Given the description of an element on the screen output the (x, y) to click on. 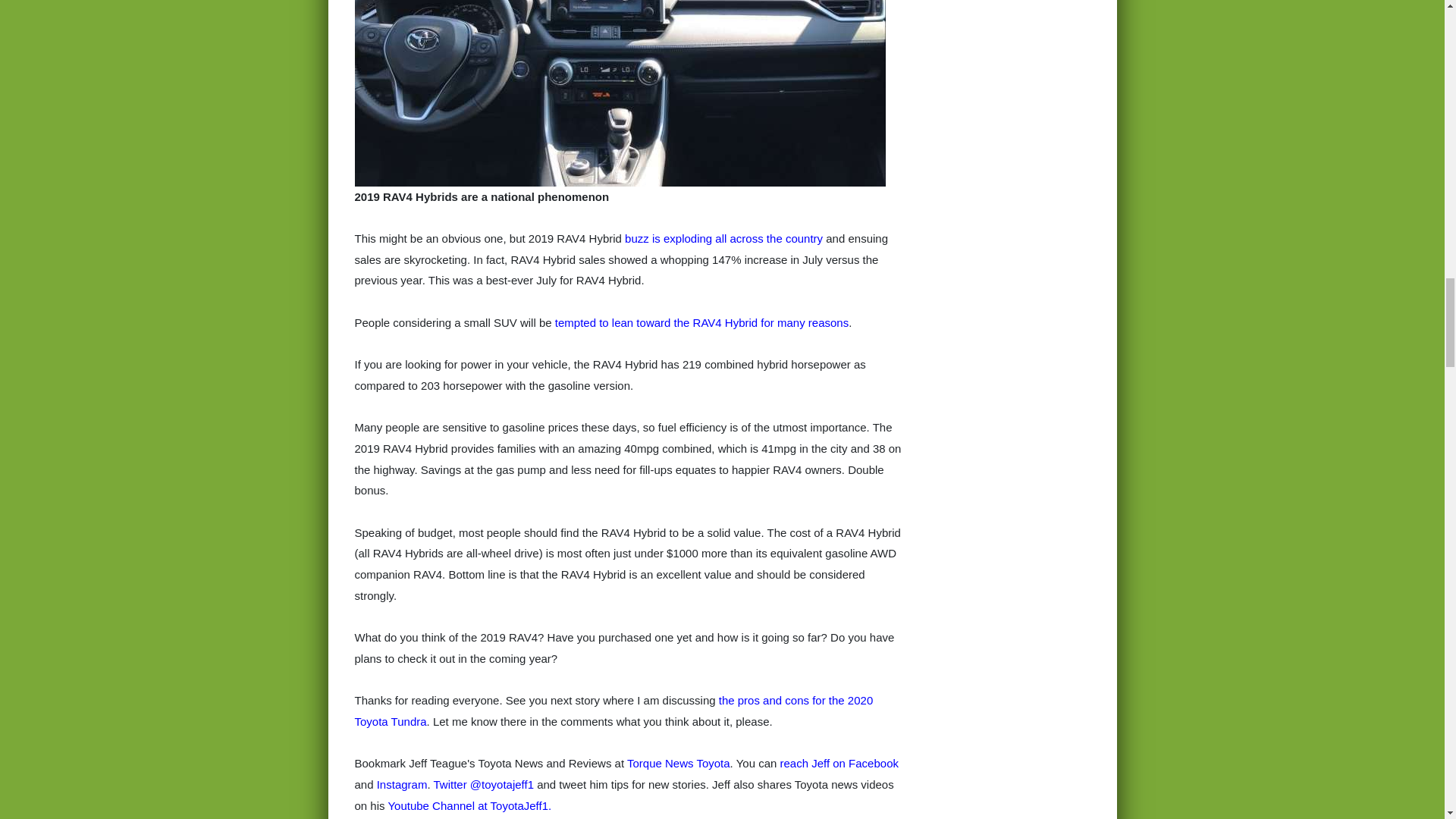
Instagram (402, 784)
buzz is exploding all across the country (723, 237)
tempted to lean toward the RAV4 Hybrid for many reasons (701, 322)
the pros and cons for the 2020 Toyota Tundra (614, 710)
reach Jeff on Facebook (838, 762)
Torque News Toyota (678, 762)
Youtube Channel at ToyotaJeff1. (469, 805)
